Given the description of an element on the screen output the (x, y) to click on. 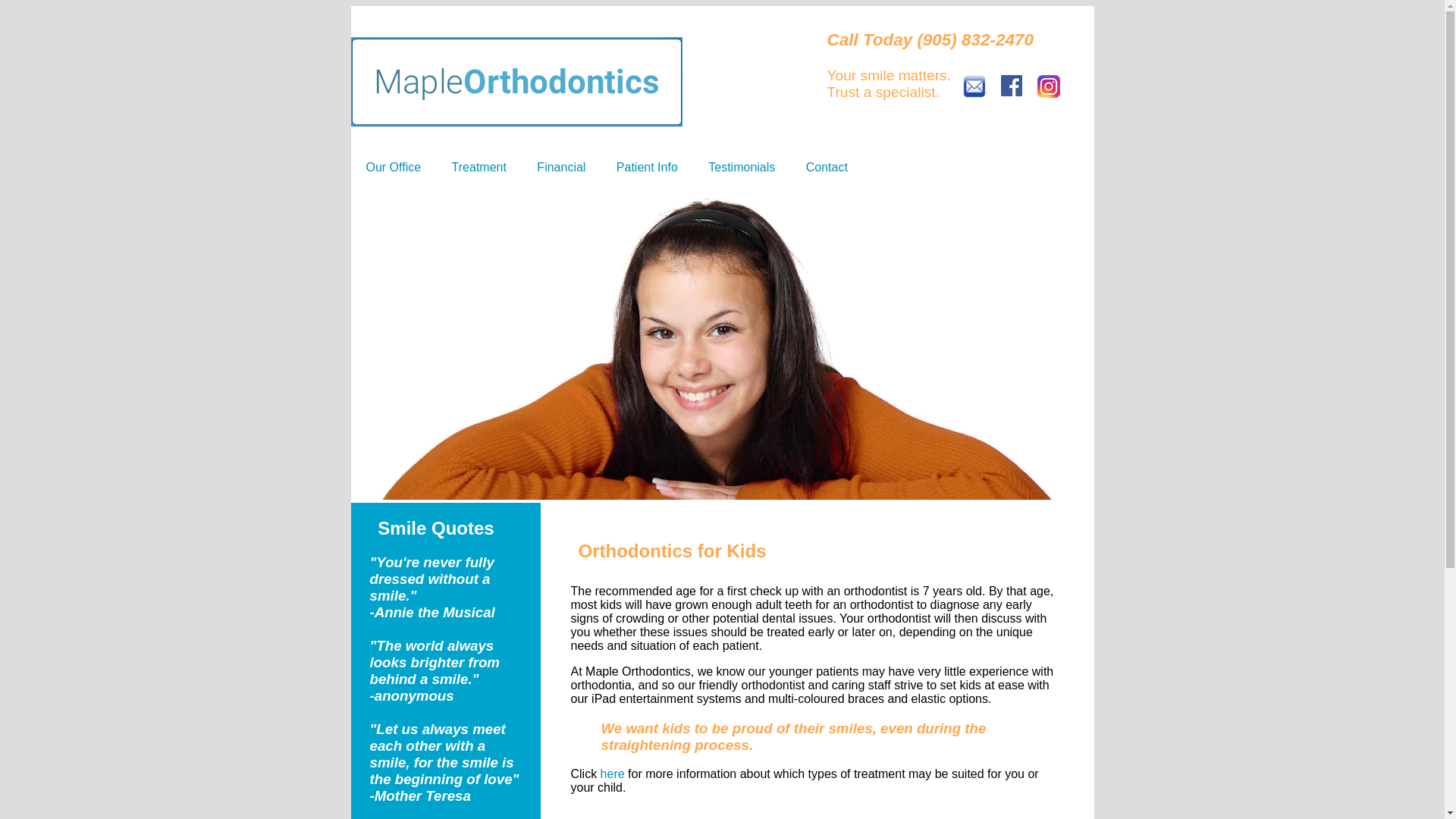
Contact (826, 166)
Our Office (392, 166)
Testimonials (740, 166)
here (611, 773)
Treatment (478, 166)
Financial (561, 166)
Patient Info (646, 166)
